Given the description of an element on the screen output the (x, y) to click on. 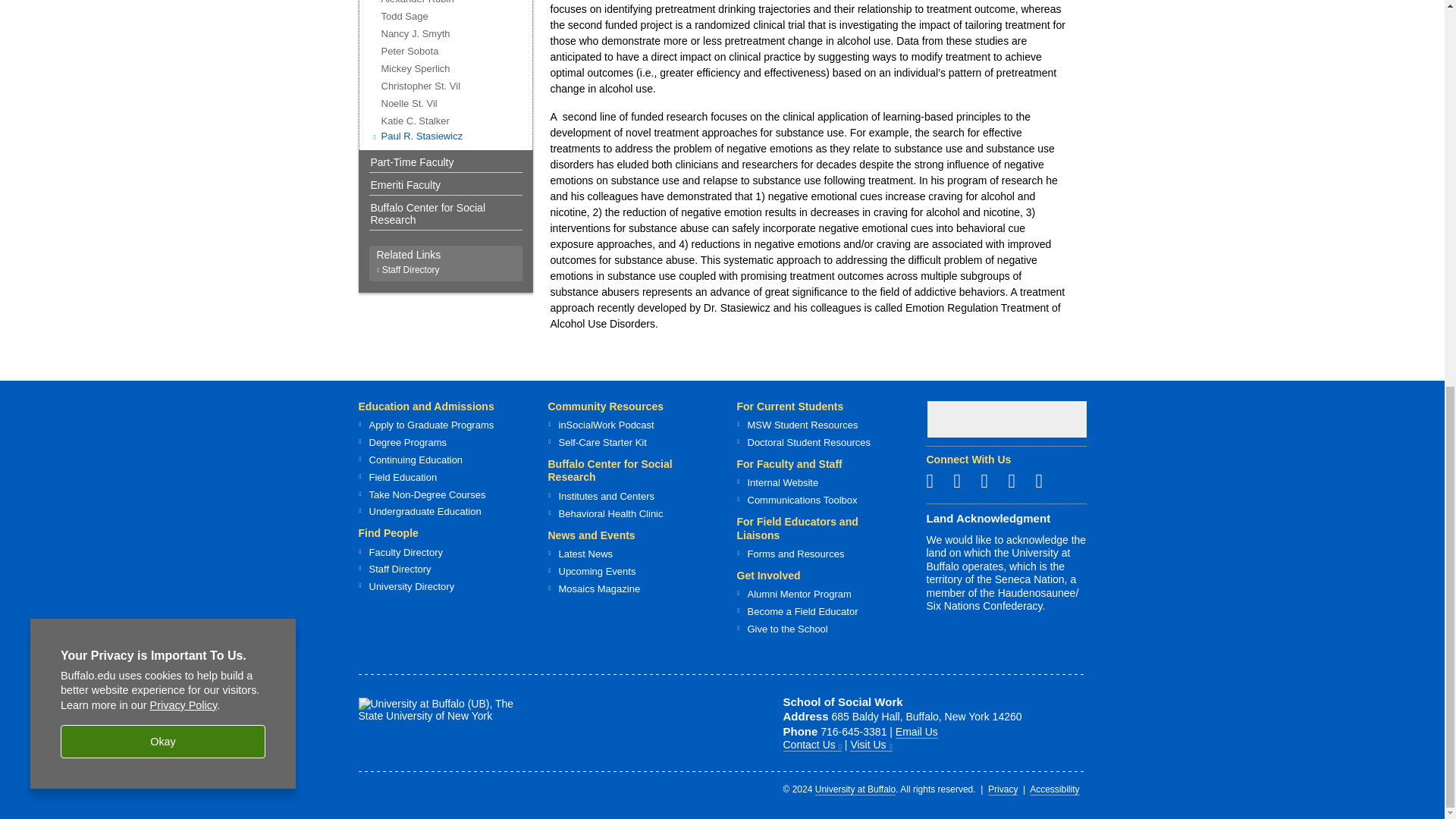
LinkedIn (1018, 480)
Facebook (936, 480)
Instagram (963, 480)
YouTube (1045, 480)
